Given the description of an element on the screen output the (x, y) to click on. 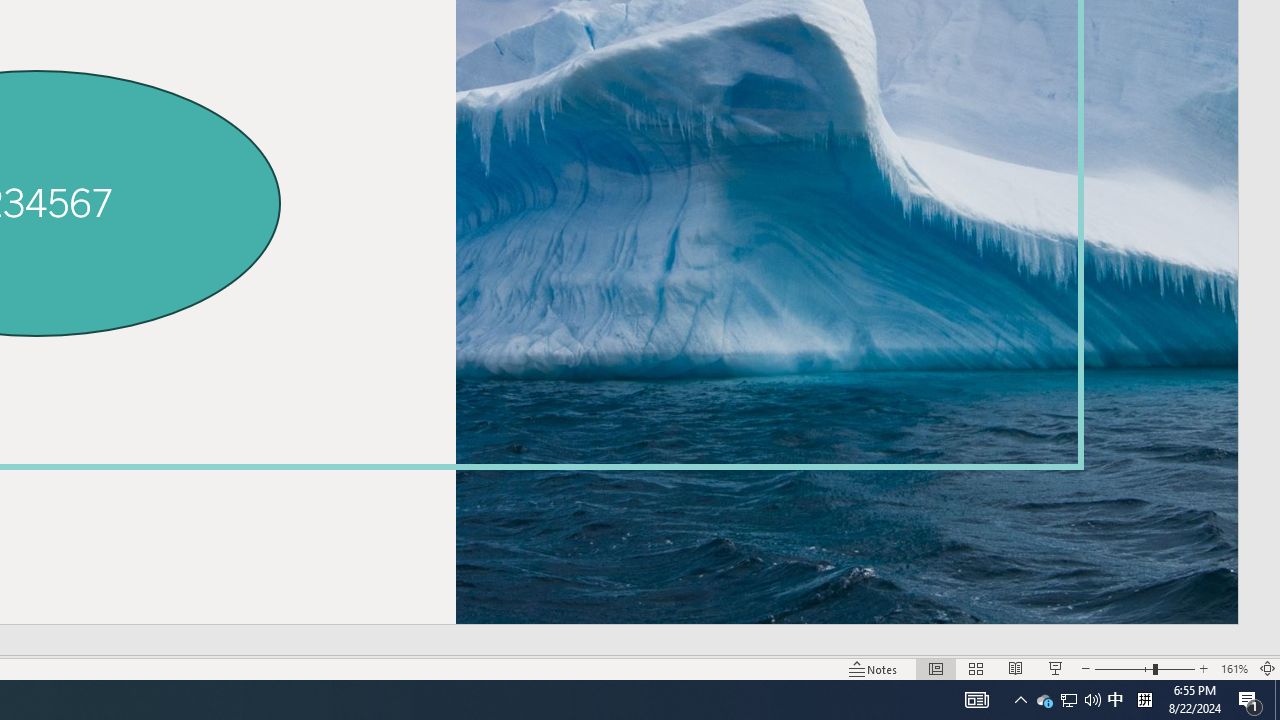
Zoom 161% (1234, 668)
